Given the description of an element on the screen output the (x, y) to click on. 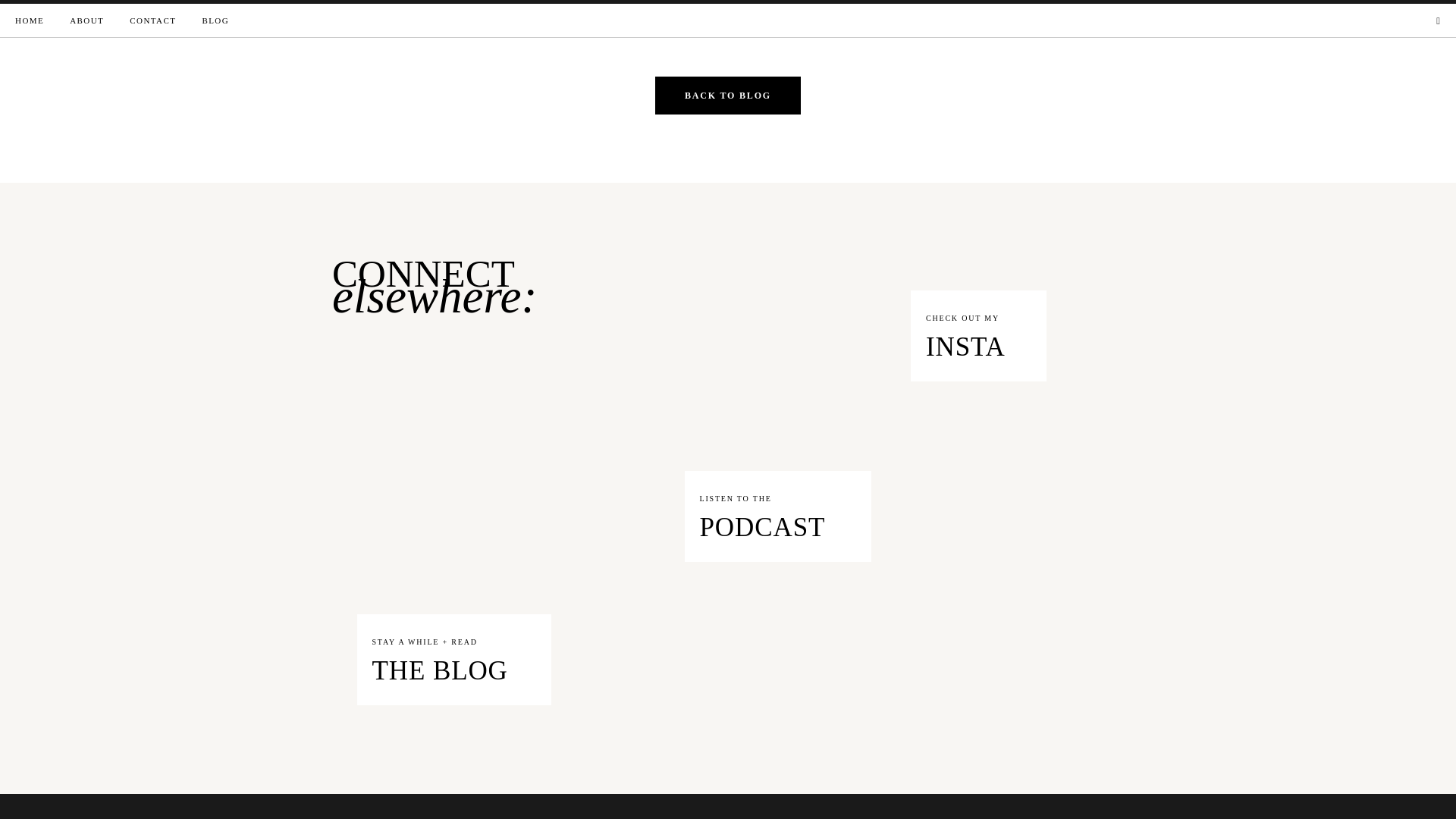
BACK TO BLOG (728, 604)
